Given the description of an element on the screen output the (x, y) to click on. 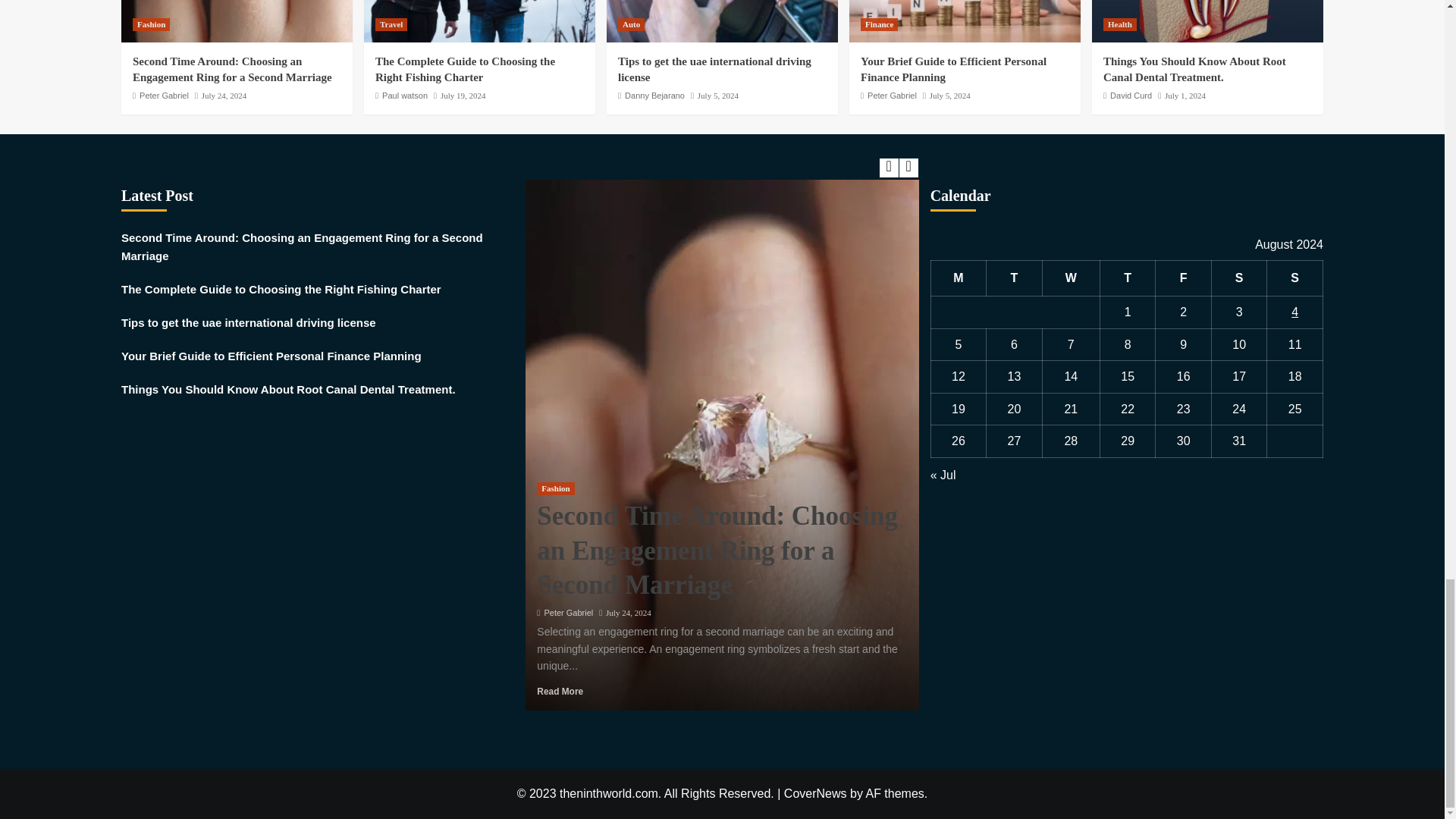
Sunday (1294, 278)
Wednesday (1070, 278)
Monday (958, 278)
Thursday (1127, 278)
Saturday (1238, 278)
Tuesday (1014, 278)
Friday (1183, 278)
